Given the description of an element on the screen output the (x, y) to click on. 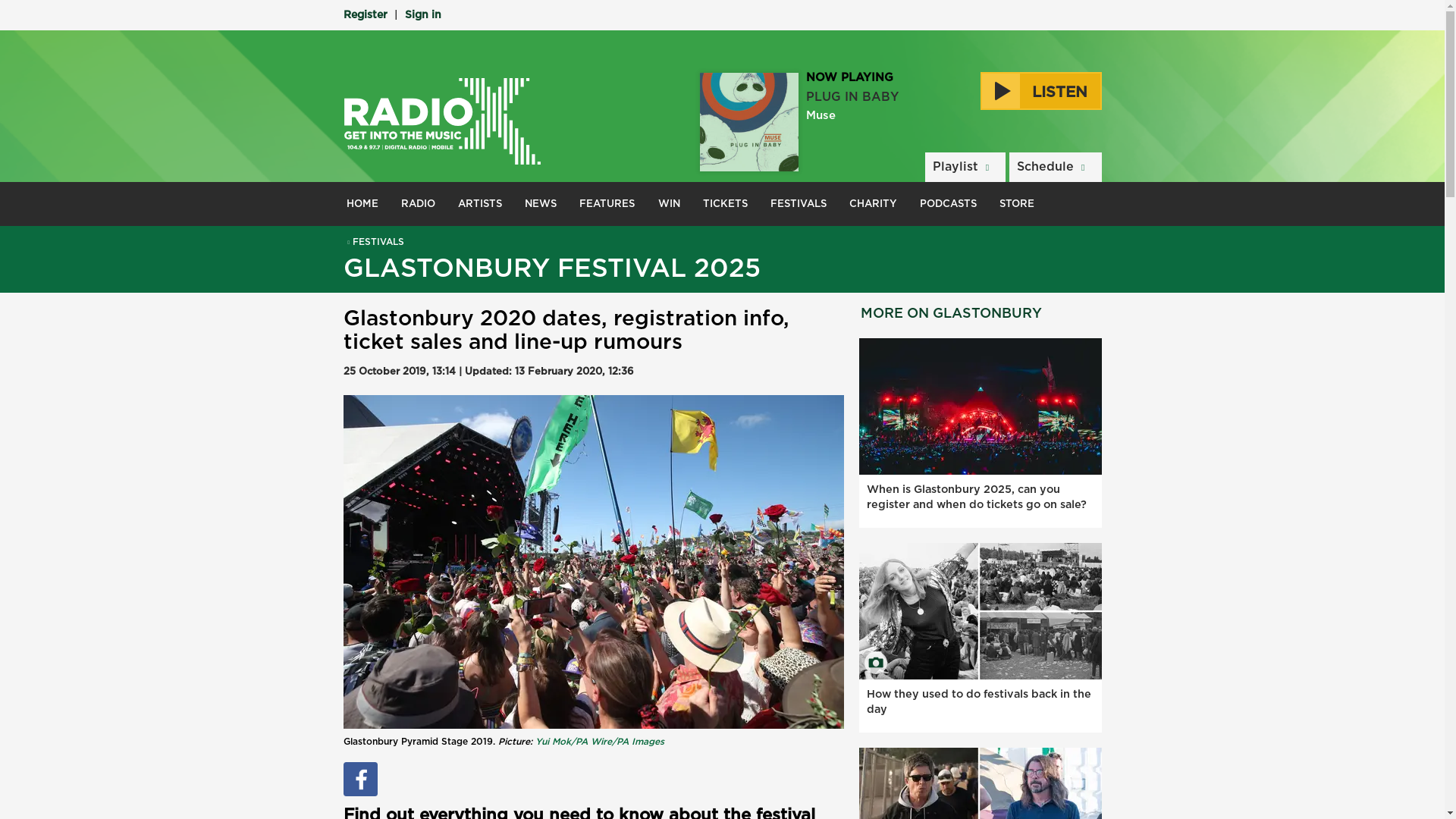
Sign in (422, 14)
HOME (362, 203)
TICKETS (724, 203)
Playlist (965, 166)
NEWS (540, 203)
RADIO (418, 203)
FEATURES (606, 203)
FESTIVALS (373, 241)
LISTEN (1039, 90)
PODCASTS (948, 203)
